Given the description of an element on the screen output the (x, y) to click on. 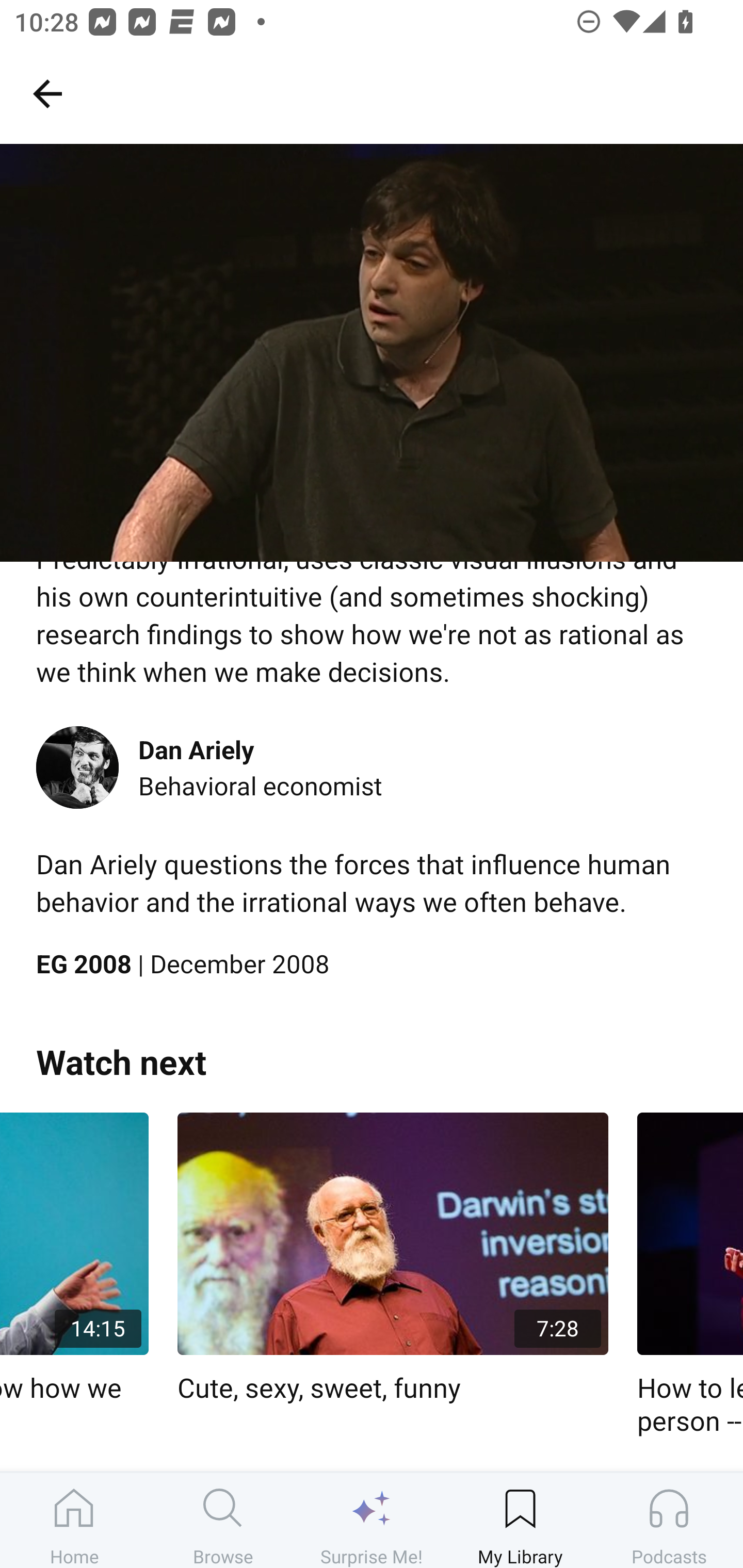
My Library, back (47, 92)
7:28 Cute, sexy, sweet, funny (392, 1258)
Home (74, 1520)
Browse (222, 1520)
Surprise Me! (371, 1520)
My Library (519, 1520)
Podcasts (668, 1520)
